Given the description of an element on the screen output the (x, y) to click on. 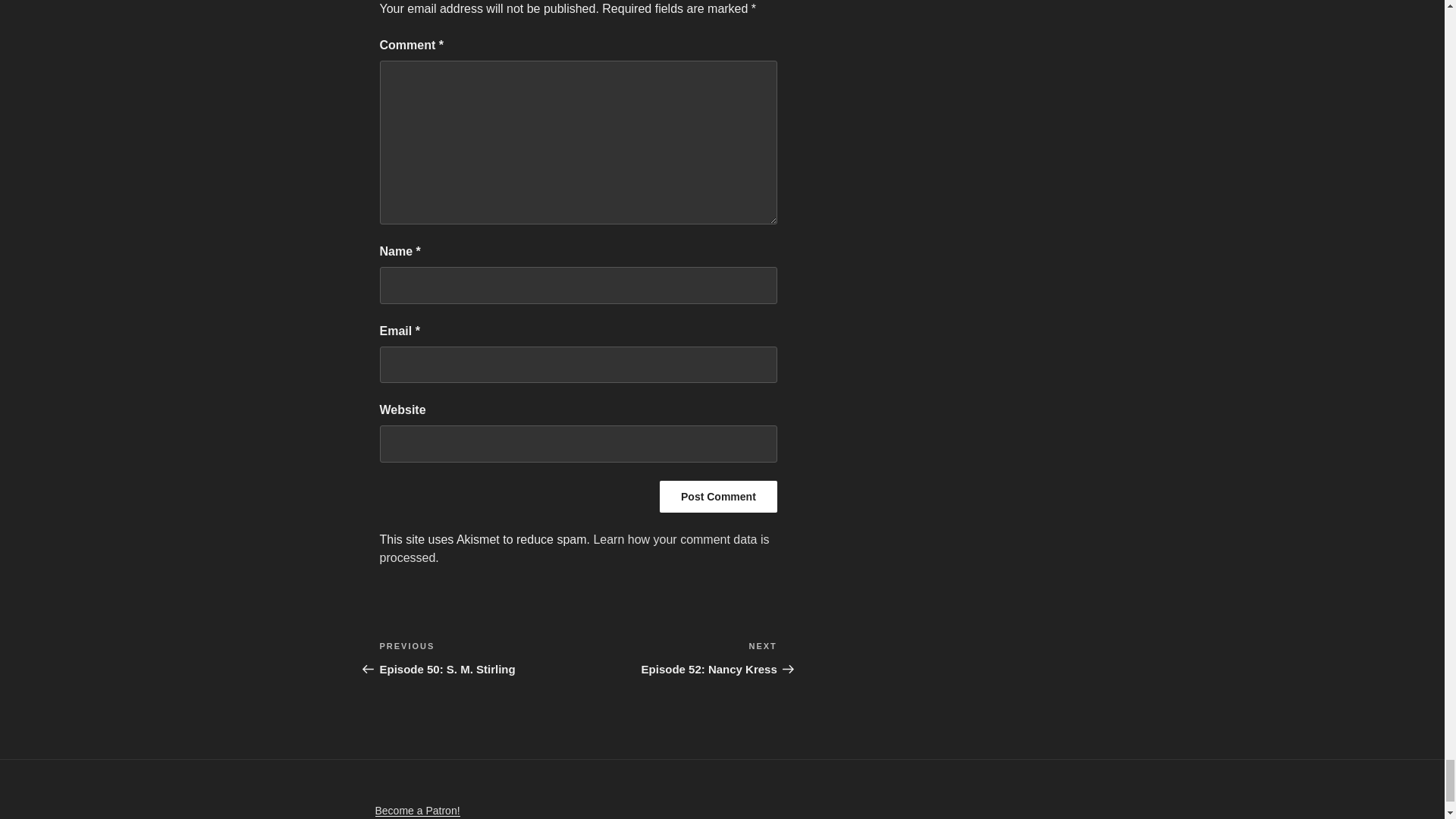
Post Comment (718, 496)
